Given the description of an element on the screen output the (x, y) to click on. 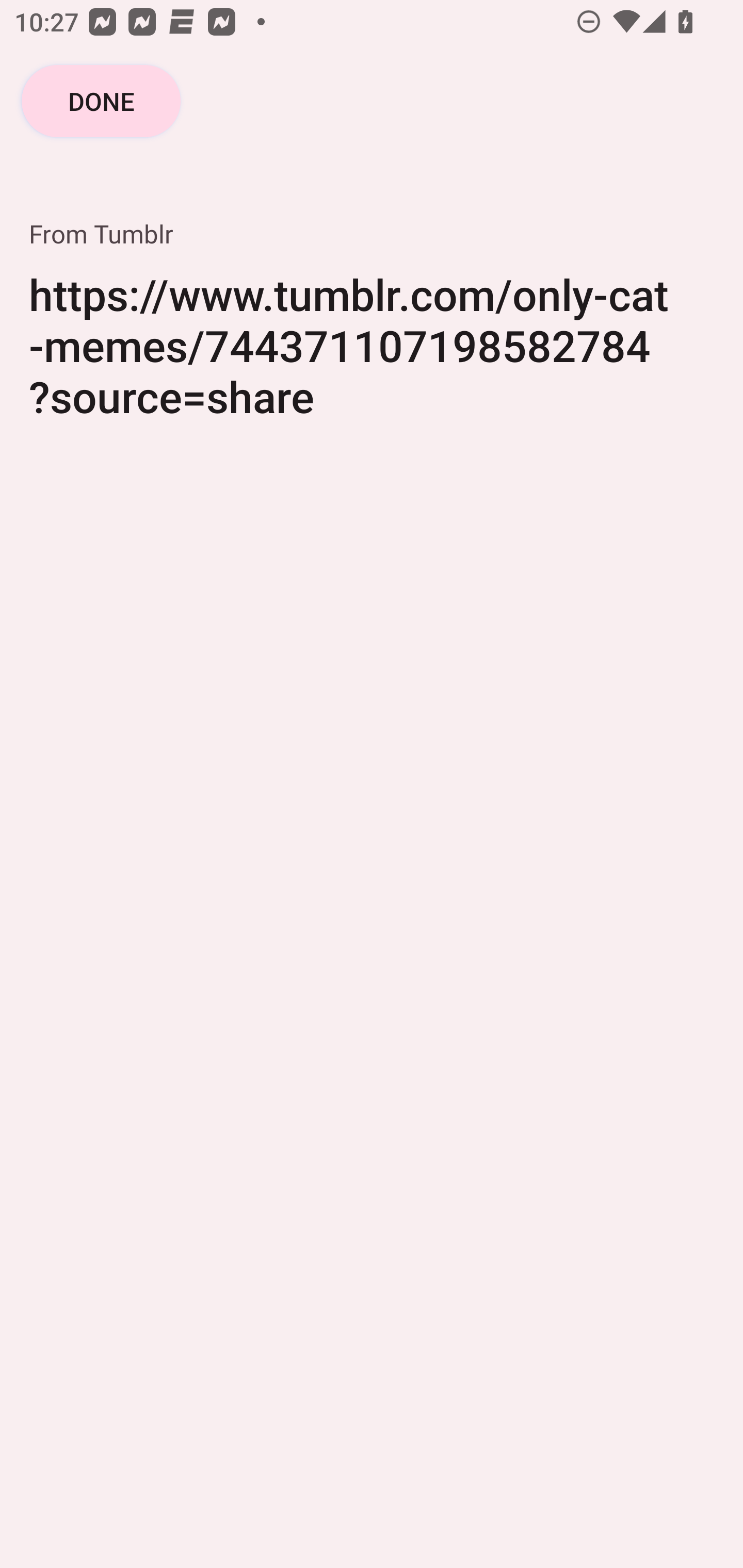
DONE (100, 101)
